Given the description of an element on the screen output the (x, y) to click on. 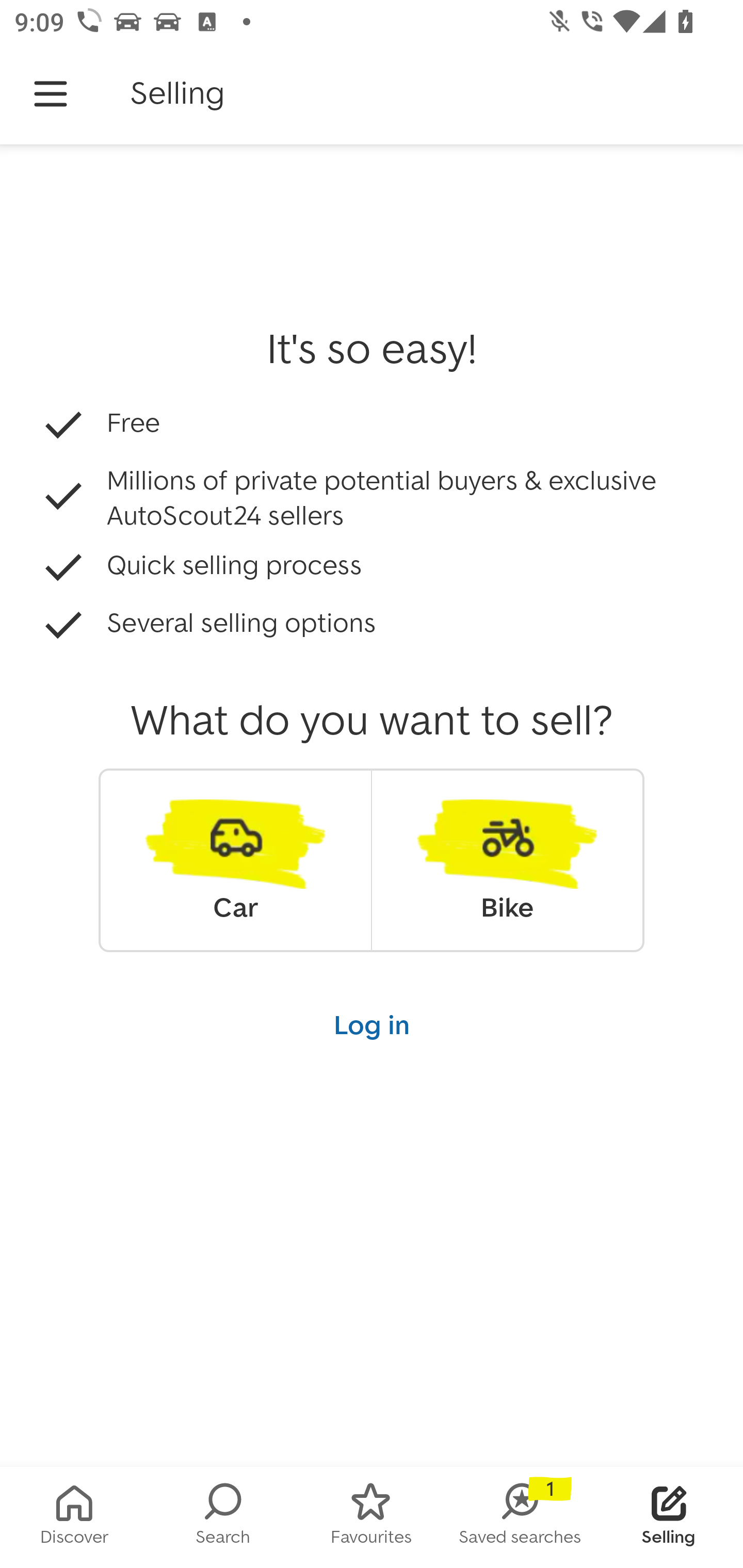
Navigate up (50, 93)
Car (235, 859)
Bike (507, 859)
Log in (371, 1024)
HOMESCREEN Discover (74, 1517)
SEARCH Search (222, 1517)
FAVORITES Favourites (371, 1517)
SAVED_SEARCHES Saved searches 1 (519, 1517)
STOCK_LIST Selling (668, 1517)
